Given the description of an element on the screen output the (x, y) to click on. 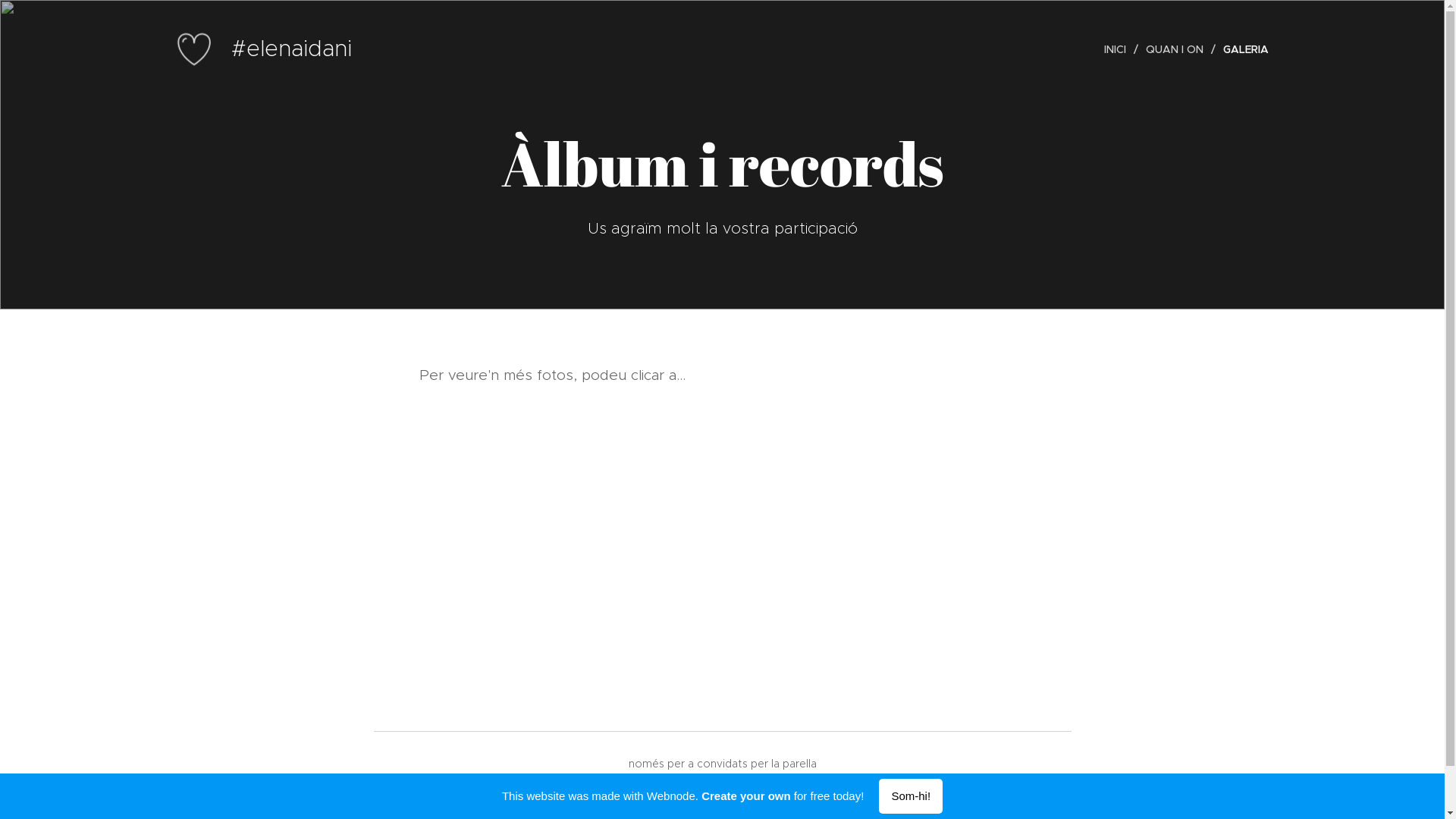
#elenaidani Element type: text (263, 49)
Webnode Element type: text (761, 784)
QUAN I ON Element type: text (1175, 49)
INICI Element type: text (1118, 49)
GALERIA Element type: text (1240, 49)
